Given the description of an element on the screen output the (x, y) to click on. 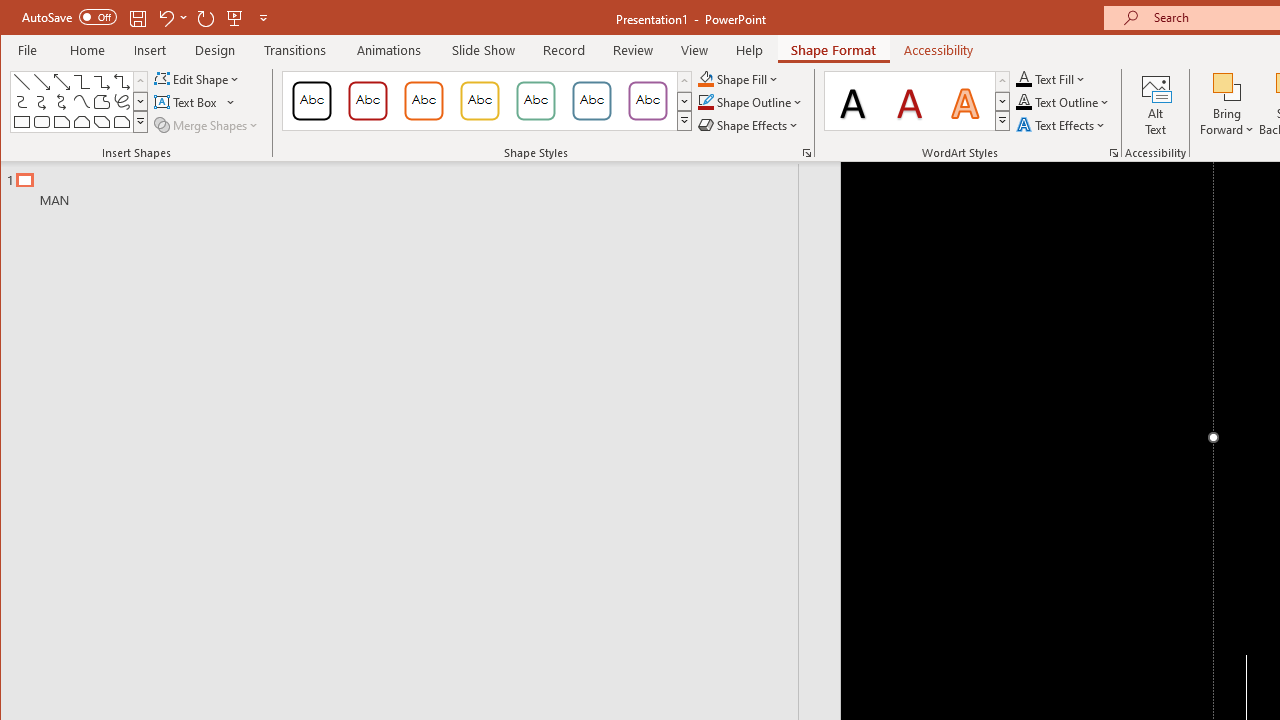
Connector: Curved (21, 102)
Rectangle: Single Corner Snipped (61, 121)
Connector: Curved Double-Arrow (61, 102)
Text Fill (1051, 78)
Colored Outline - Green, Accent 4 (536, 100)
Draw Horizontal Text Box (187, 101)
